Given the description of an element on the screen output the (x, y) to click on. 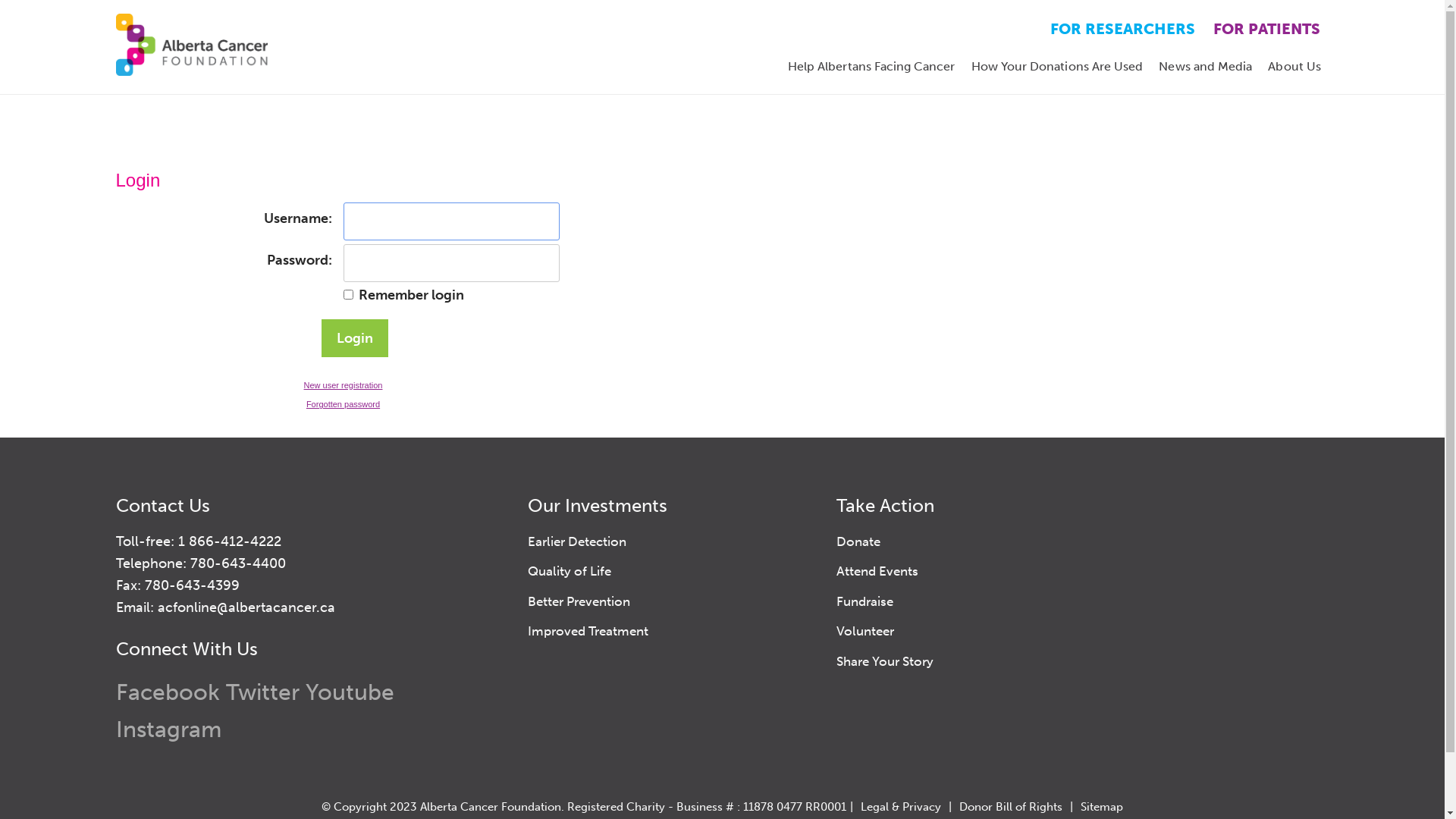
Help Albertans Facing Cancer Element type: text (871, 66)
Legal & Privacy Element type: text (900, 806)
FOR RESEARCHERS Element type: text (1121, 28)
About Us Element type: text (1294, 66)
Login Element type: text (354, 338)
Share Your Story Element type: text (884, 660)
Fundraise Element type: text (864, 600)
acfonline@albertacancer.ca Element type: text (246, 607)
Improved Treatment Element type: text (587, 630)
FOR PATIENTS Element type: text (1266, 28)
Sitemap Element type: text (1101, 806)
News and Media Element type: text (1205, 66)
Instagram Element type: text (167, 729)
Attend Events Element type: text (877, 570)
Donor Bill of Rights Element type: text (1010, 806)
Quality of Life Element type: text (569, 570)
Forgotten password Element type: text (342, 403)
Twitter Element type: text (262, 692)
New user registration Element type: text (343, 384)
Facebook Element type: text (167, 692)
Earlier Detection Element type: text (576, 541)
Youtube Element type: text (348, 692)
Volunteer Element type: text (865, 630)
Better Prevention Element type: text (578, 600)
How Your Donations Are Used Element type: text (1057, 66)
Donate Element type: text (858, 541)
